Given the description of an element on the screen output the (x, y) to click on. 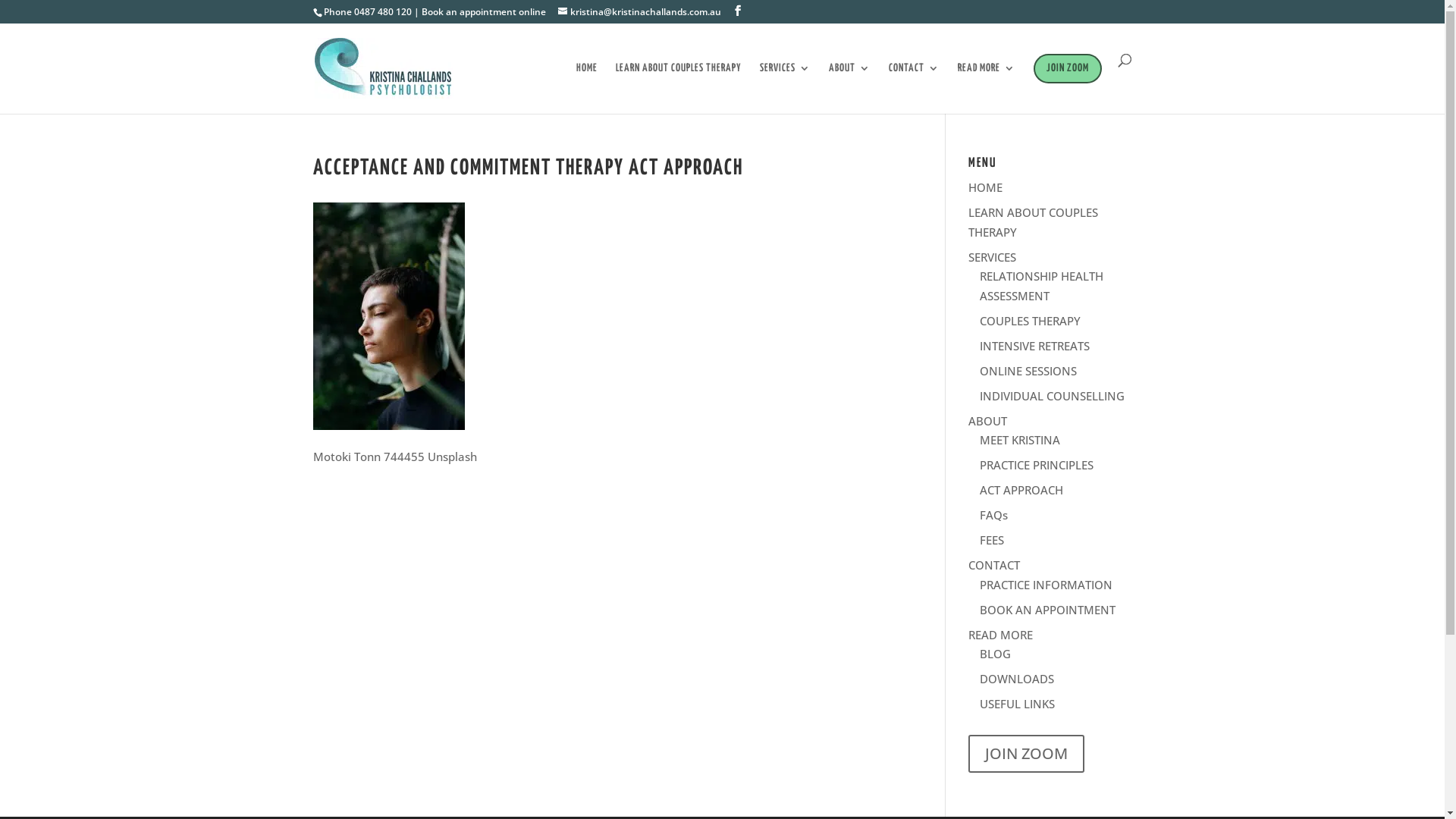
JOIN ZOOM Element type: text (1066, 83)
LEARN ABOUT COUPLES THERAPY Element type: text (678, 82)
CONTACT Element type: text (993, 564)
HOME Element type: text (985, 186)
HOME Element type: text (586, 82)
READ MORE Element type: text (985, 82)
ABOUT Element type: text (848, 82)
READ MORE Element type: text (1000, 633)
RELATIONSHIP HEALTH ASSESSMENT Element type: text (1041, 285)
INDIVIDUAL COUNSELLING Element type: text (1051, 395)
LEARN ABOUT COUPLES THERAPY Element type: text (1033, 221)
SERVICES Element type: text (784, 82)
FAQs Element type: text (993, 514)
BLOG Element type: text (994, 653)
DOWNLOADS Element type: text (1016, 678)
JOIN ZOOM Element type: text (1026, 754)
INTENSIVE RETREATS Element type: text (1034, 345)
COUPLES THERAPY Element type: text (1029, 319)
USEFUL LINKS Element type: text (1016, 703)
ACT APPROACH Element type: text (1021, 489)
MEET KRISTINA Element type: text (1019, 439)
PRACTICE PRINCIPLES Element type: text (1036, 464)
ONLINE SESSIONS Element type: text (1027, 369)
FEES Element type: text (991, 539)
PRACTICE INFORMATION Element type: text (1045, 583)
SERVICES Element type: text (992, 255)
BOOK AN APPOINTMENT Element type: text (1047, 609)
0487 480 120 Element type: text (382, 11)
kristina@kristinachallands.com.au Element type: text (639, 11)
ABOUT Element type: text (987, 419)
CONTACT Element type: text (913, 82)
Book an appointment online Element type: text (483, 11)
